Given the description of an element on the screen output the (x, y) to click on. 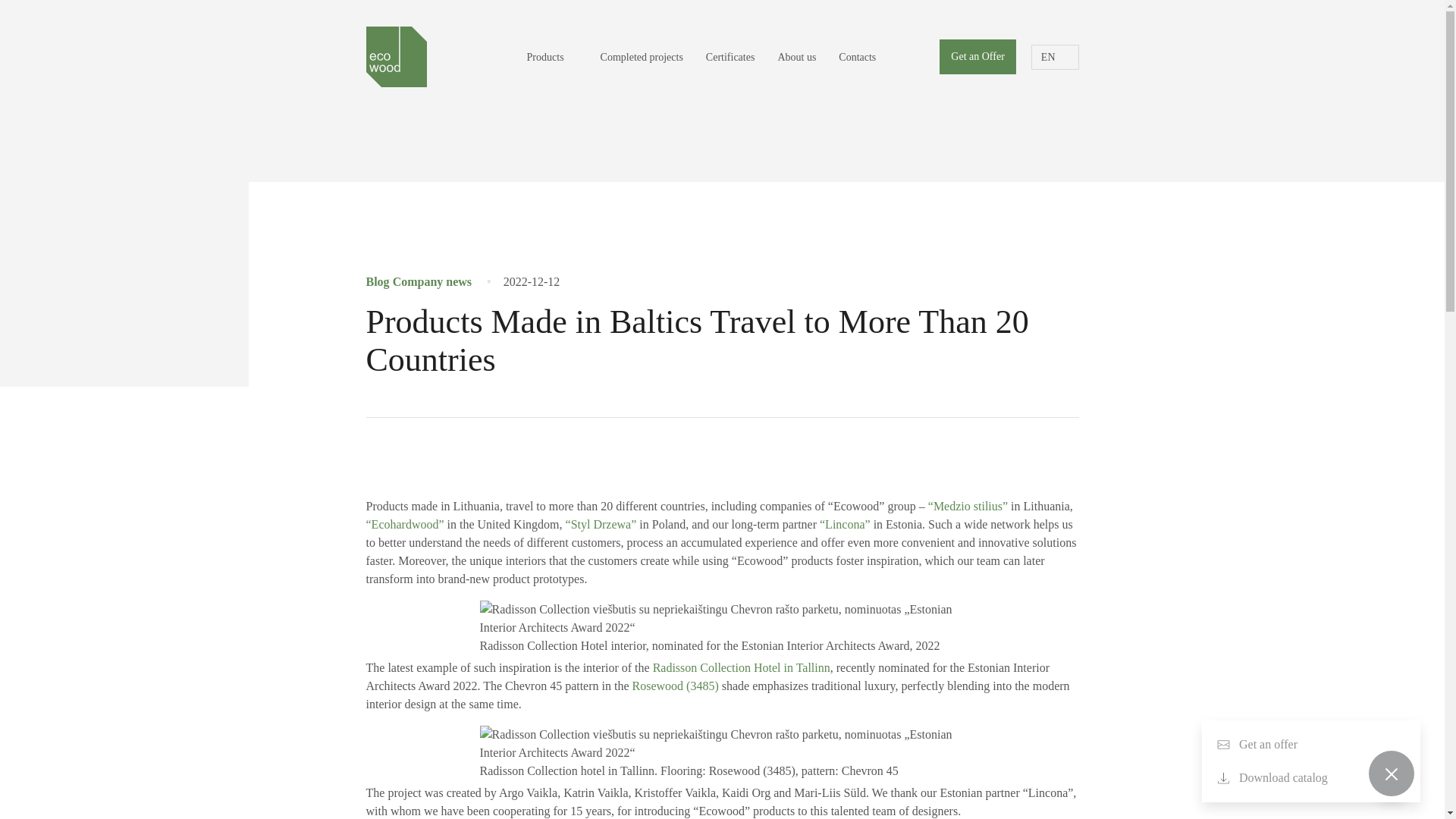
Search (907, 56)
Blog (376, 281)
Completed projects (641, 56)
Certificates (730, 56)
Completed projects (641, 56)
Get an Offer (977, 56)
Certificates (730, 56)
Ecowood (395, 56)
EN (1054, 56)
Company news (432, 281)
